Given the description of an element on the screen output the (x, y) to click on. 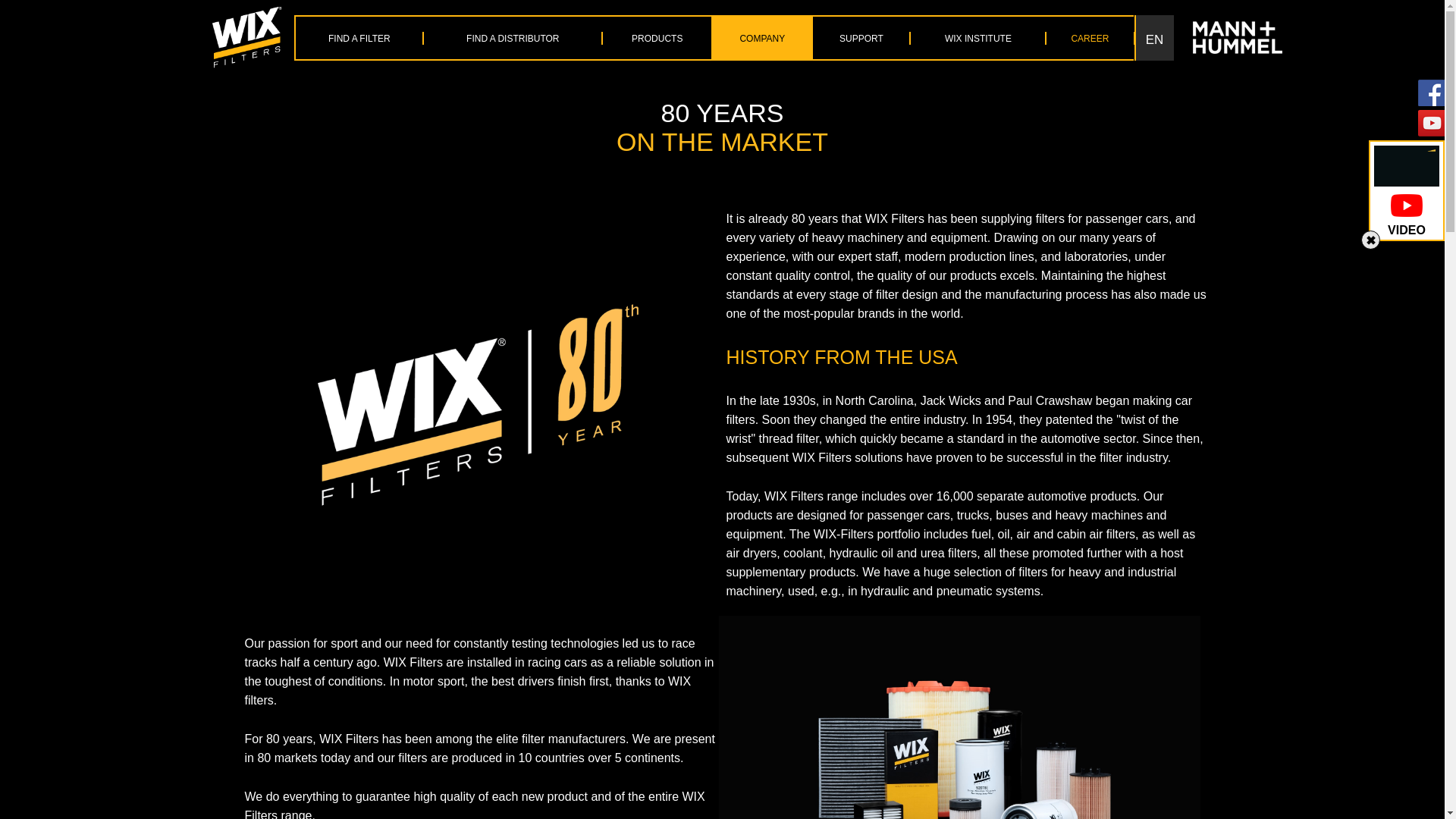
FIND A FILTER (359, 37)
PRODUCTS (656, 37)
FIND A DISTRIBUTOR (512, 37)
COMPANY (761, 37)
SUPPORT (861, 37)
